Given the description of an element on the screen output the (x, y) to click on. 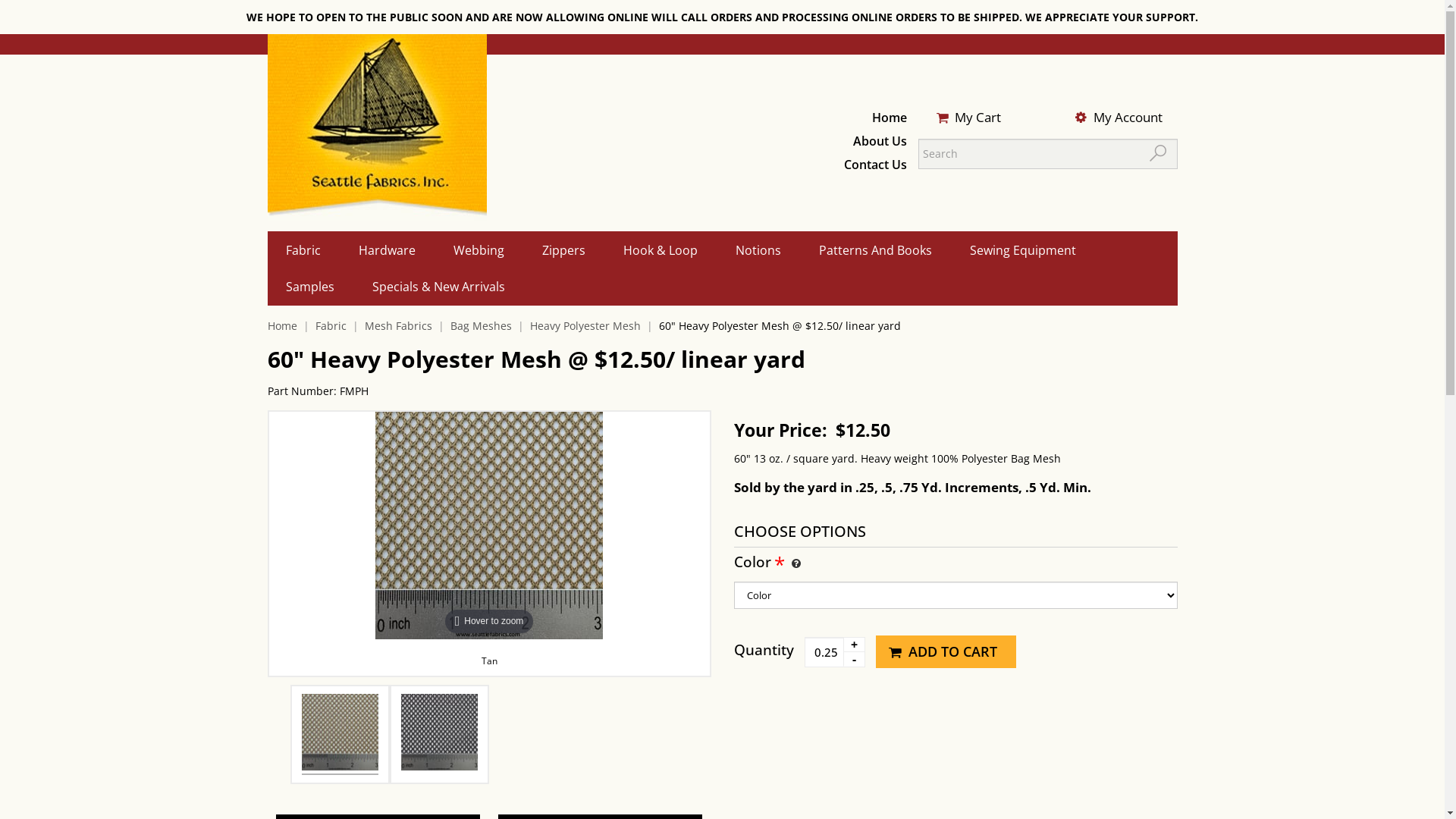
Heavy Polyester Mesh Element type: text (584, 325)
Fabric Element type: text (330, 325)
Zippers Element type: text (563, 250)
Hardware Element type: text (387, 250)
Sewing Equipment Element type: text (1022, 250)
Home Element type: text (281, 325)
Hover to zoom Element type: text (488, 524)
Banner Element type: hover (1157, 153)
Home Element type: text (825, 117)
+ Element type: text (853, 644)
Mesh Fabrics Element type: text (397, 325)
My Account Element type: text (1117, 116)
About Us Element type: text (825, 140)
Samples Element type: text (309, 286)
Fabric Element type: text (303, 250)
My Cart Element type: text (967, 117)
Seattle Fabrics Element type: hover (376, 127)
Black Element type: hover (439, 734)
Tan Element type: hover (488, 525)
Hook & Loop Element type: text (659, 250)
Webbing Element type: text (477, 250)
Black  Element type: hover (439, 734)
60" Heavy Polyester Mesh @ $12.50/ linear yard Element type: text (779, 325)
Specials & New Arrivals Element type: text (438, 286)
- Element type: text (853, 659)
Hover to zoom Element type: hover (338, 734)
Notions Element type: text (757, 250)
Tan Element type: hover (339, 734)
Patterns And Books Element type: text (874, 250)
Contact Us Element type: text (825, 164)
Bag Meshes Element type: text (480, 325)
ADD TO CART Element type: text (945, 651)
